Given the description of an element on the screen output the (x, y) to click on. 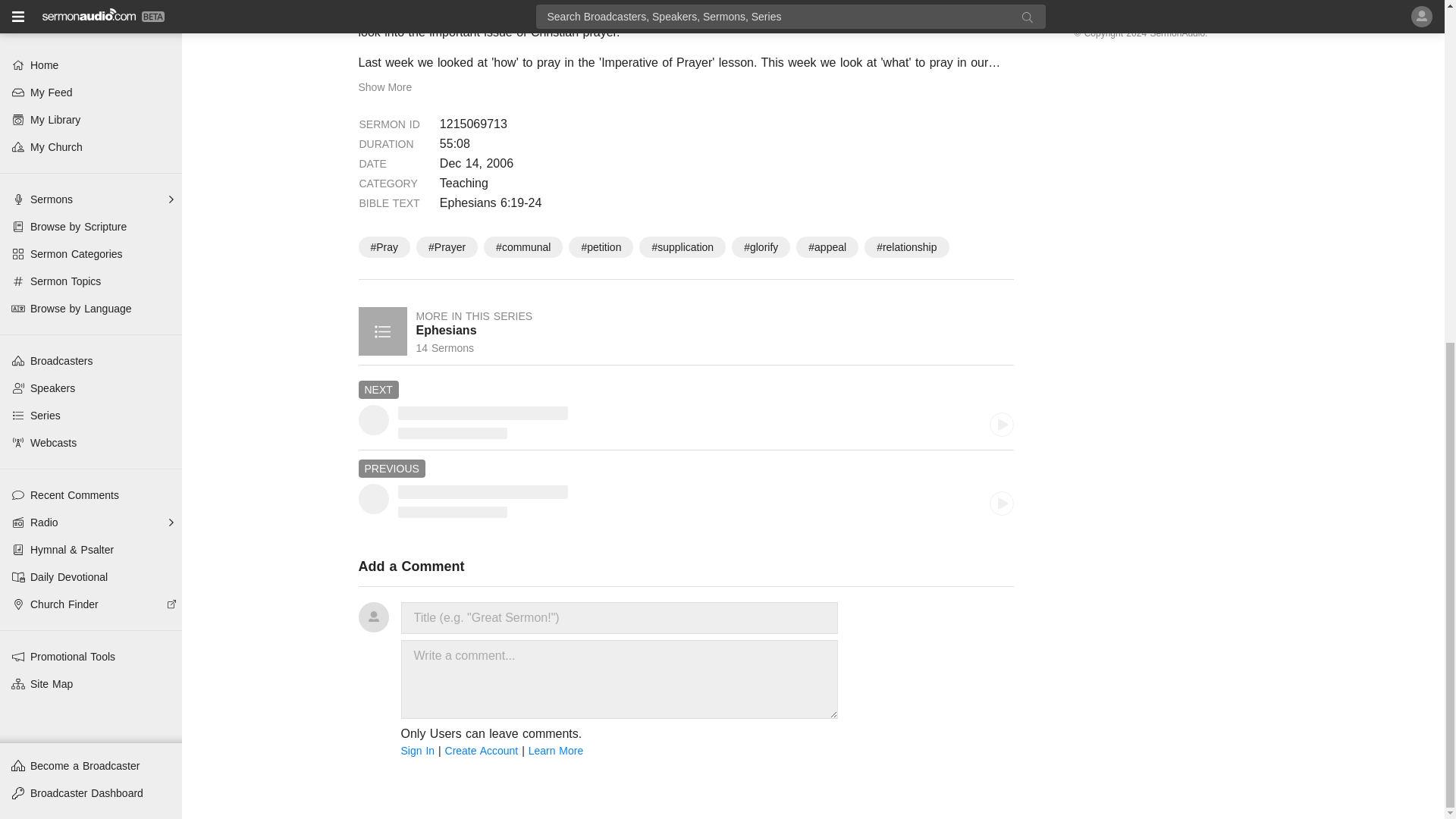
Church Finder (91, 19)
Become a Broadcaster (91, 180)
Speaker (451, 432)
Broadcaster Dashboard (91, 207)
Site Map (91, 99)
Daily Devotional (91, 2)
Speaker (451, 511)
Promotional Tools (91, 71)
